Given the description of an element on the screen output the (x, y) to click on. 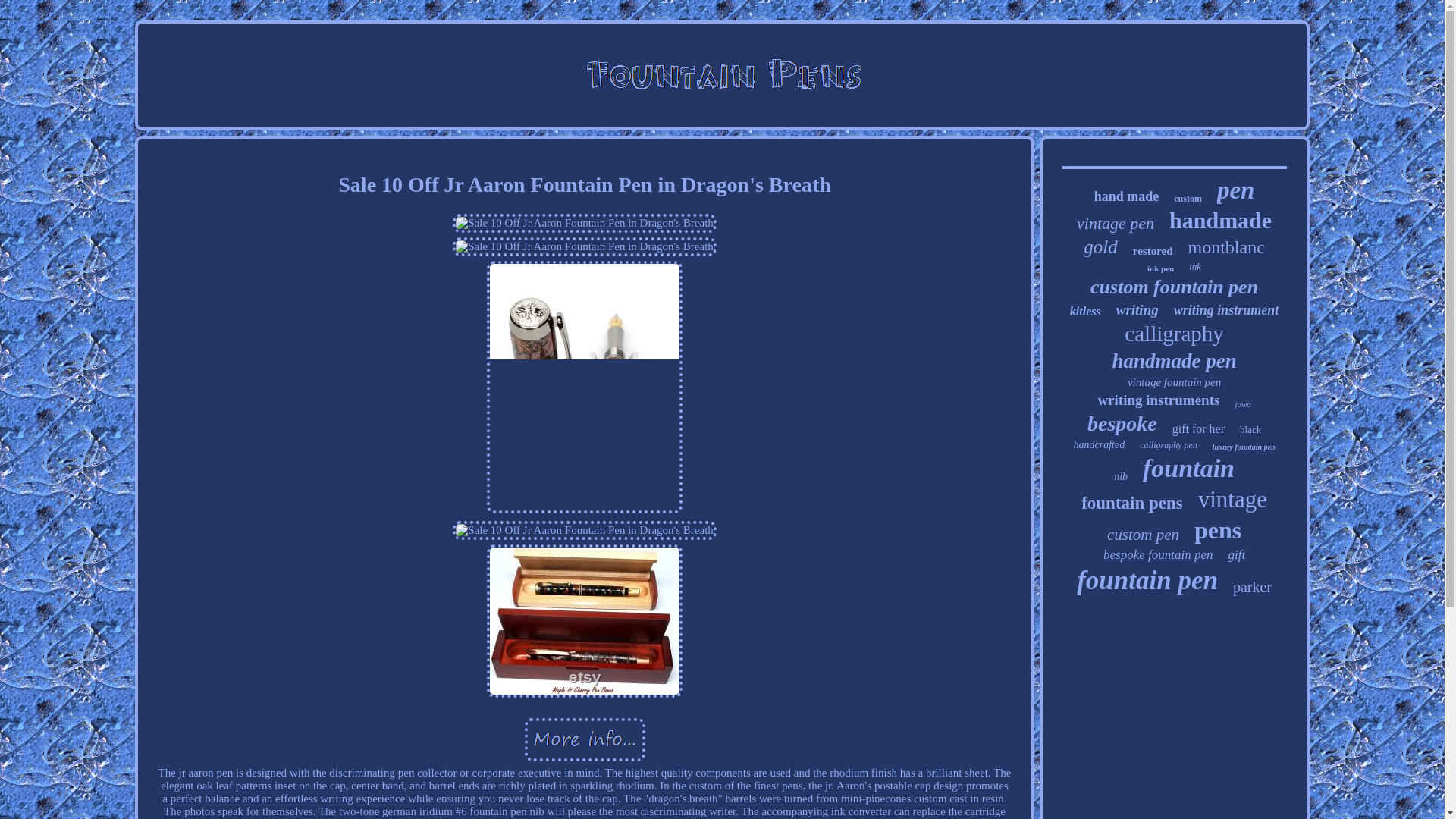
gold (1099, 246)
restored (1152, 250)
calligraphy (1173, 333)
Sale 10 Off Jr Aaron Fountain Pen in Dragon's Breath (584, 738)
montblanc (1226, 247)
Sale 10 Off Jr Aaron Fountain Pen in Dragon's Breath (584, 245)
ink (1195, 266)
luxury fountain pen (1243, 447)
gift for her (1198, 428)
custom fountain pen (1173, 287)
